Given the description of an element on the screen output the (x, y) to click on. 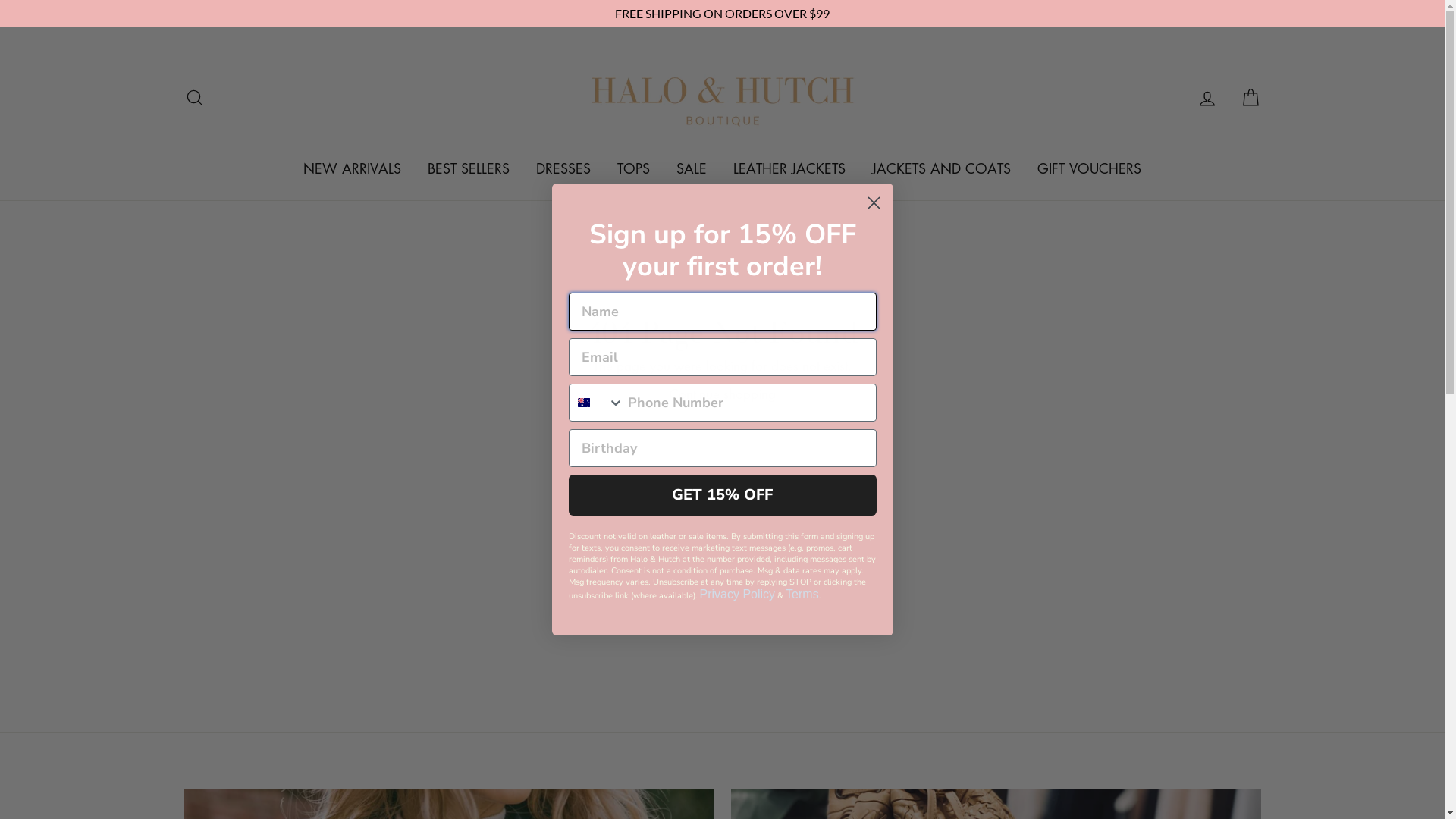
DRESSES Element type: text (563, 168)
Privacy Policy Element type: text (737, 593)
LEATHER JACKETS Element type: text (788, 168)
Australia Element type: hover (583, 402)
Cart Element type: text (1249, 96)
GET 15% OFF Element type: text (722, 494)
SALE Element type: text (691, 168)
Continue shopping Element type: text (721, 394)
Skip to content Element type: text (0, 27)
TOPS Element type: text (633, 168)
Terms Element type: text (802, 593)
GIFT VOUCHERS Element type: text (1089, 168)
Submit Element type: text (27, 17)
JACKETS AND COATS Element type: text (941, 168)
BEST SELLERS Element type: text (468, 168)
NEW ARRIVALS Element type: text (351, 168)
